Given the description of an element on the screen output the (x, y) to click on. 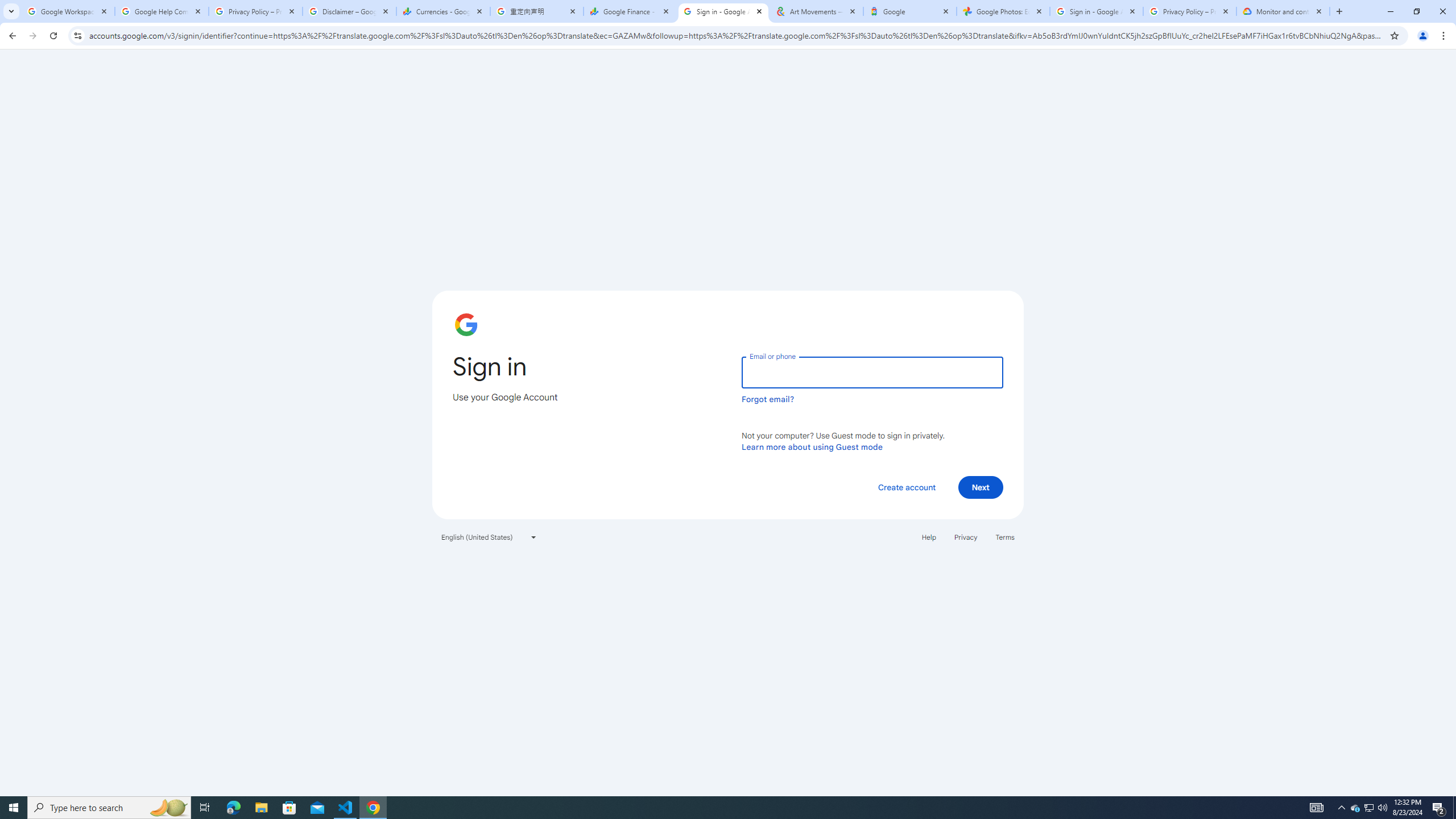
Save As (59, 380)
Folders (560, 127)
Back (59, 54)
This PC (288, 235)
Recover Unsaved Documents (530, 753)
Recent (288, 104)
Export (59, 536)
Browse (288, 321)
Documents (492, 127)
